Given the description of an element on the screen output the (x, y) to click on. 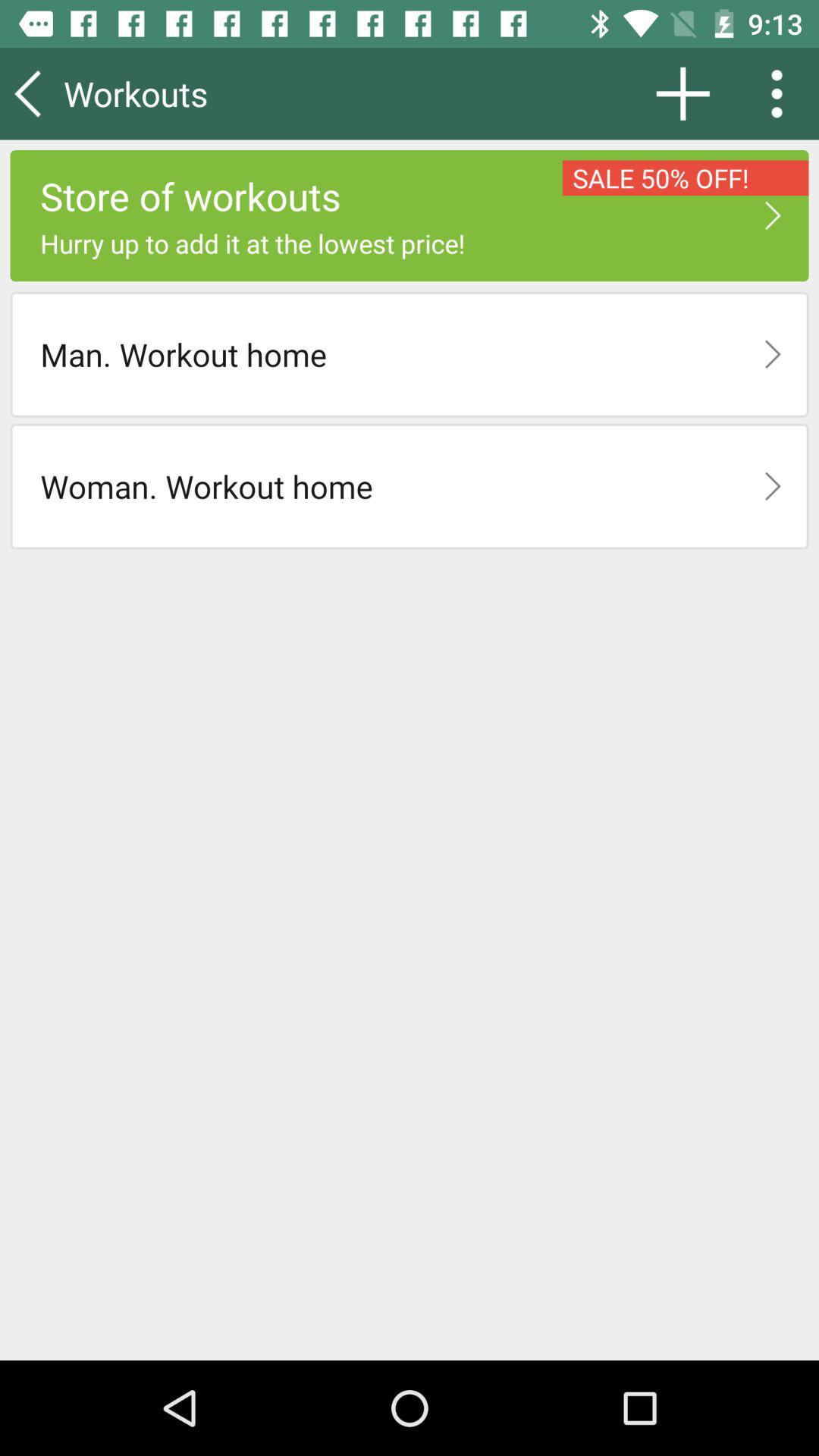
launch item to the right of the workouts app (682, 93)
